Given the description of an element on the screen output the (x, y) to click on. 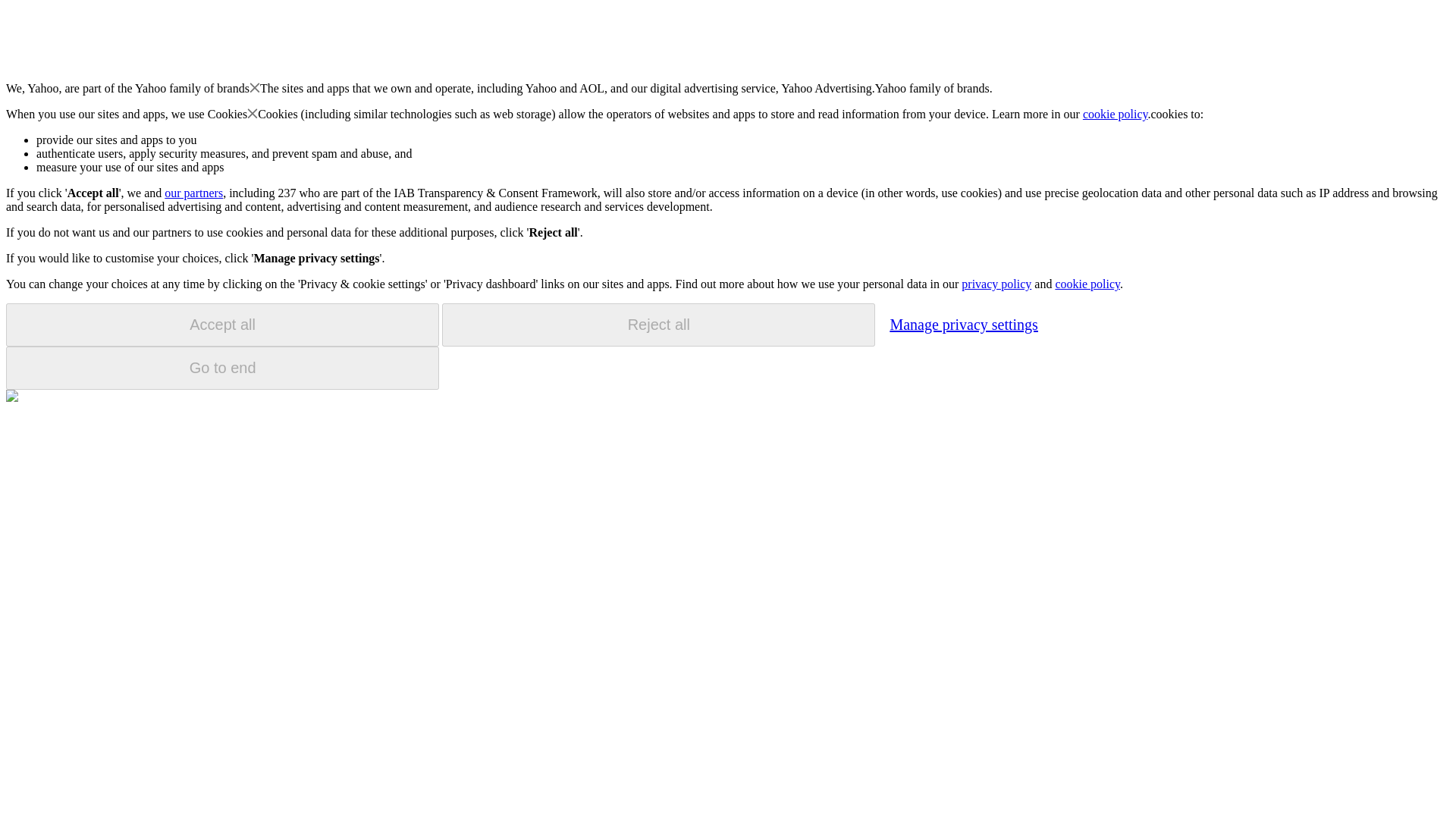
cookie policy (1115, 113)
Reject all (658, 324)
Accept all (222, 324)
cookie policy (1086, 283)
our partners (193, 192)
privacy policy (995, 283)
Go to end (222, 367)
Manage privacy settings (963, 323)
